Given the description of an element on the screen output the (x, y) to click on. 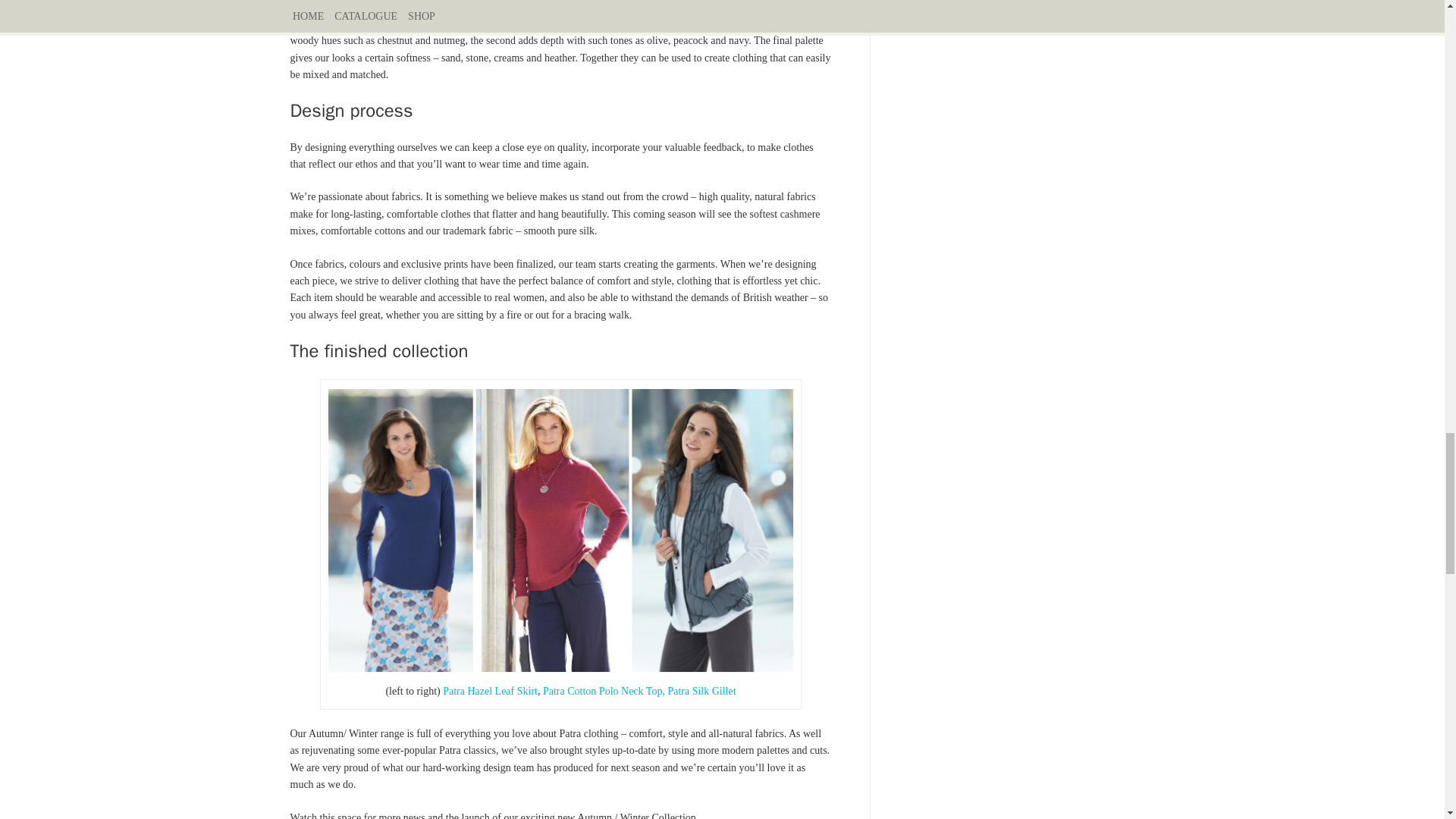
Patra Hazel Leaf Skirt (489, 690)
Patra Cotton Polo Neck Top, (604, 690)
Patra Silk Gillet (700, 690)
